Given the description of an element on the screen output the (x, y) to click on. 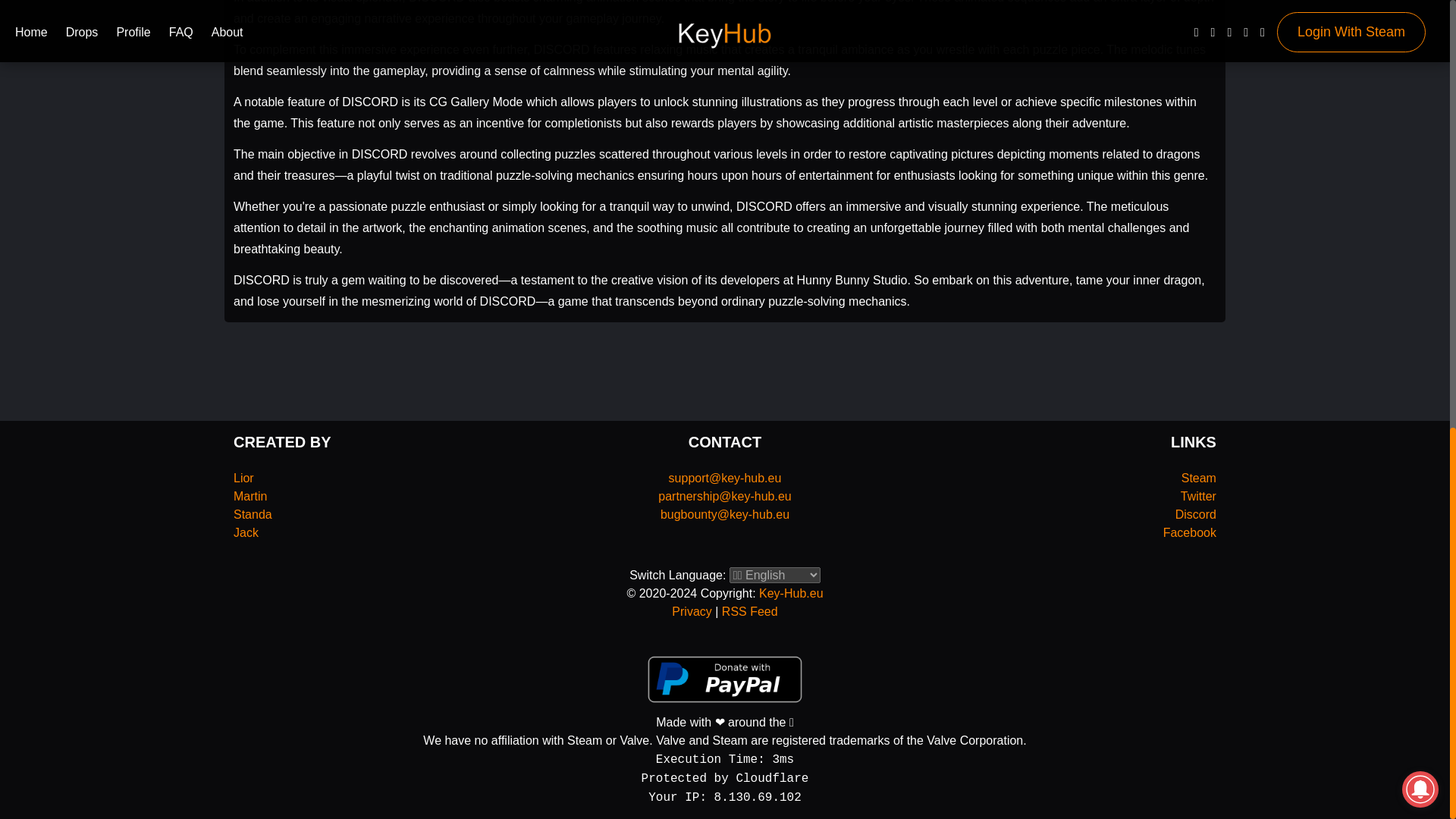
Standa (252, 513)
Steam (1197, 477)
Key-Hub.eu (791, 593)
Twitter (1197, 495)
Facebook (1189, 532)
Jack (245, 532)
Privacy (691, 611)
RSS Feed (749, 611)
Martin (249, 495)
Lior (242, 477)
Discord (1194, 513)
